Given the description of an element on the screen output the (x, y) to click on. 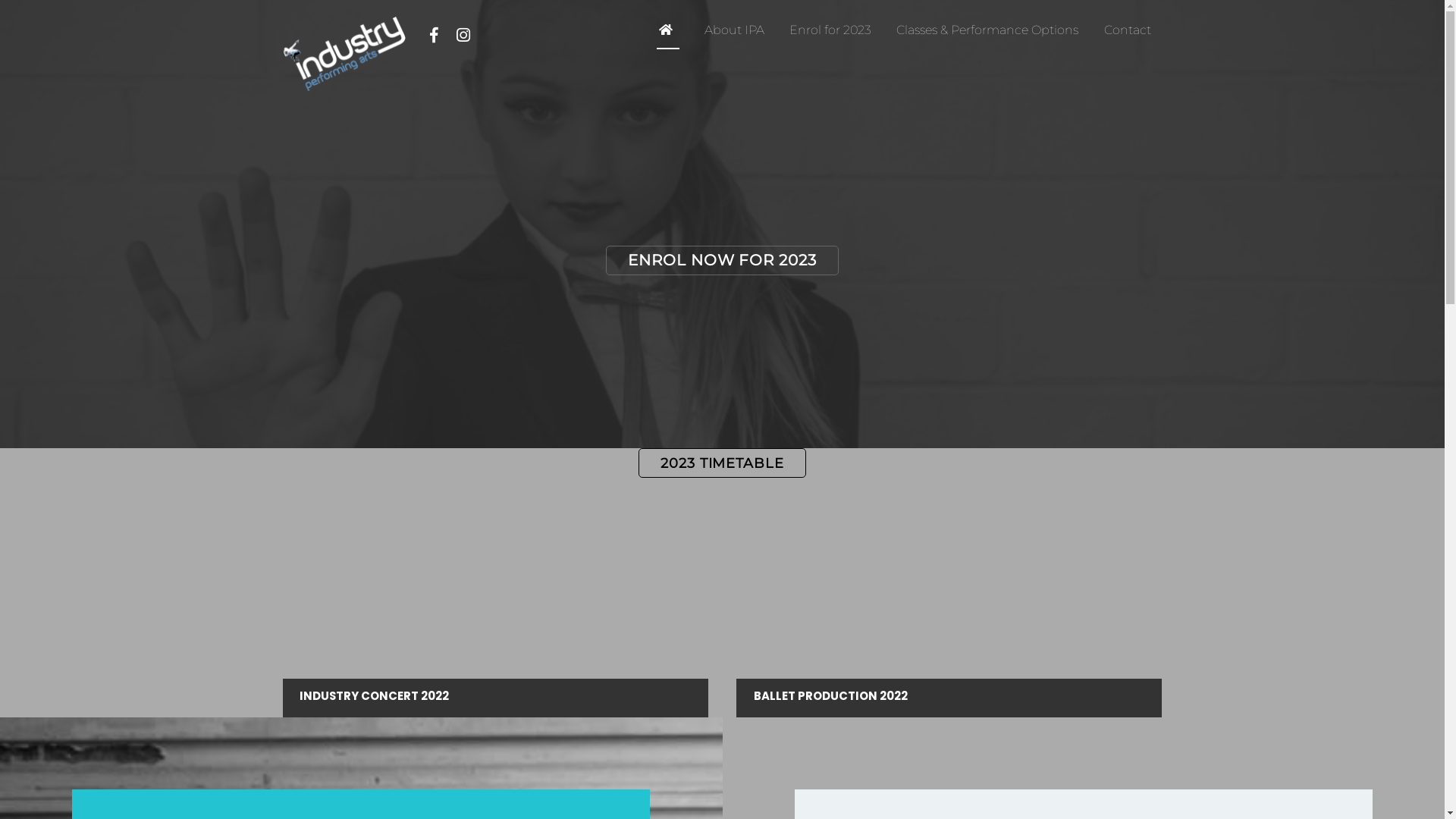
Contact Element type: text (1127, 30)
  Element type: text (668, 30)
2022 Industry Concert Element type: hover (494, 597)
ENROL NOW FOR 2023 Element type: text (721, 260)
2023 TIMETABLE Element type: text (722, 462)
Industry Performing Arts Element type: hover (343, 83)
Classes & Performance Options Element type: text (986, 30)
2022 Ballet Production Element type: hover (948, 597)
Enrol for 2023 Element type: text (829, 30)
About IPA Element type: text (733, 30)
ipa logo white blue 100px high Element type: hover (343, 53)
